Given the description of an element on the screen output the (x, y) to click on. 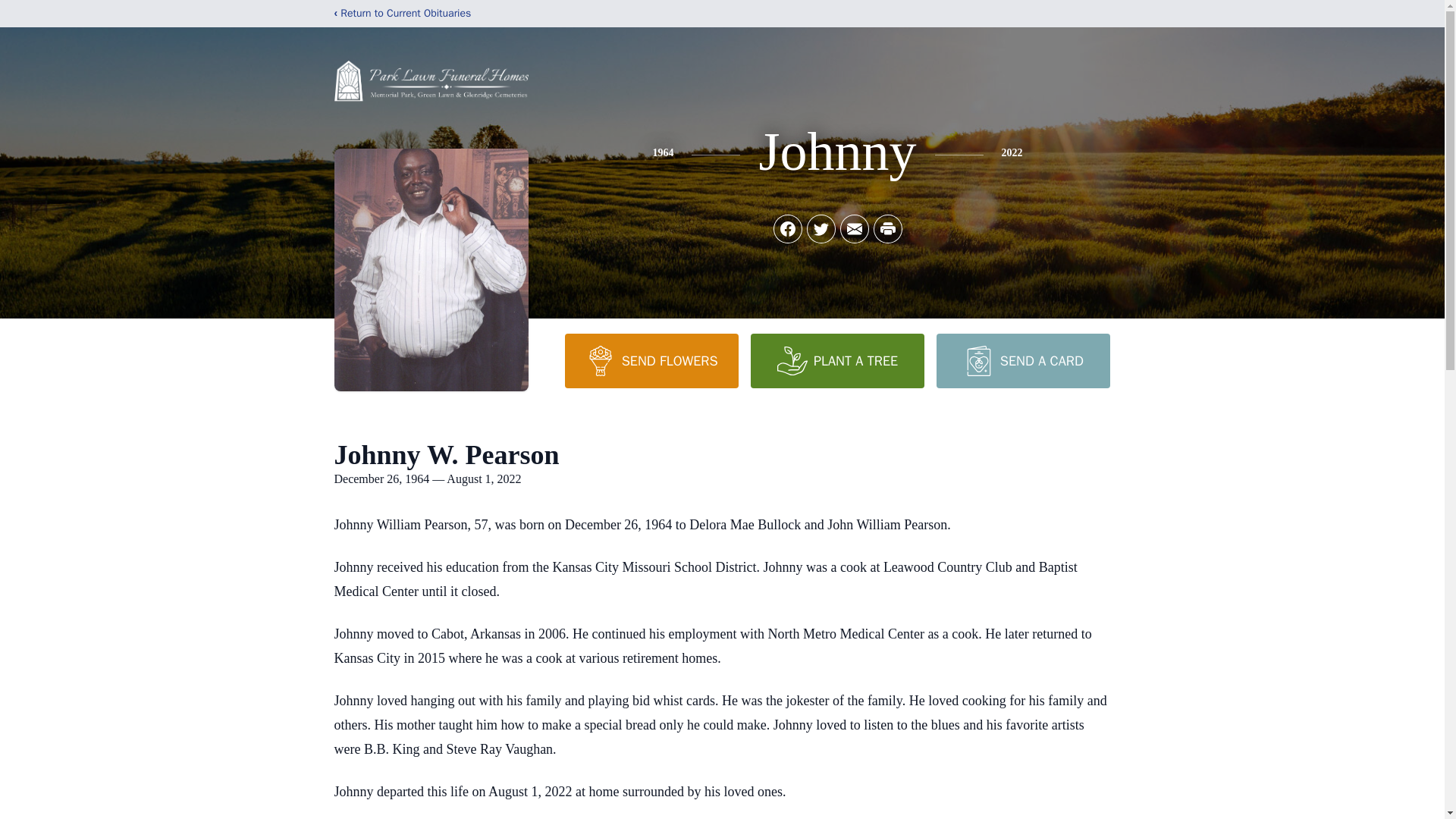
SEND FLOWERS (651, 360)
SEND A CARD (1022, 360)
PLANT A TREE (837, 360)
